Given the description of an element on the screen output the (x, y) to click on. 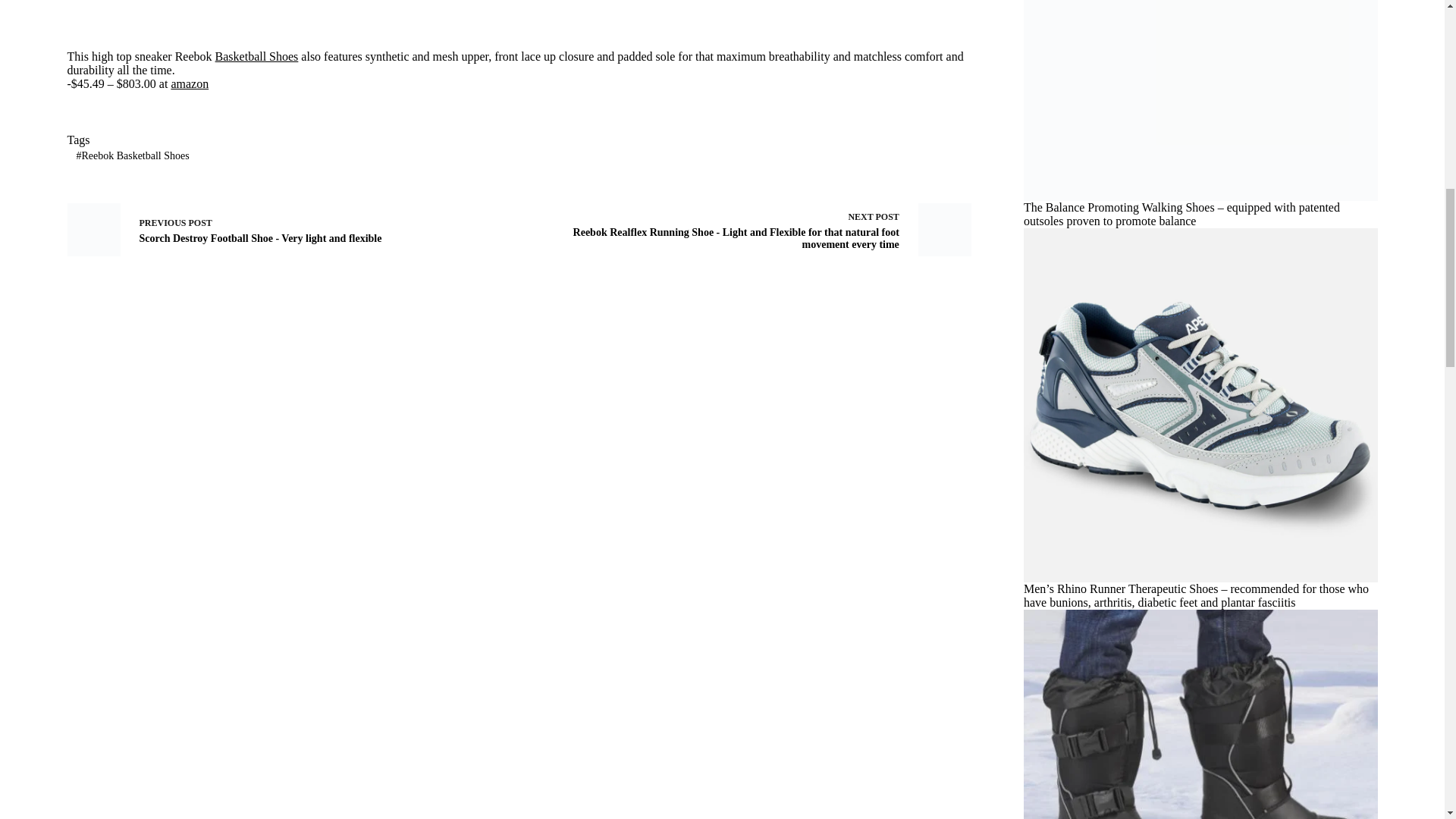
Basketball Shoes (256, 56)
amazon (189, 83)
